Given the description of an element on the screen output the (x, y) to click on. 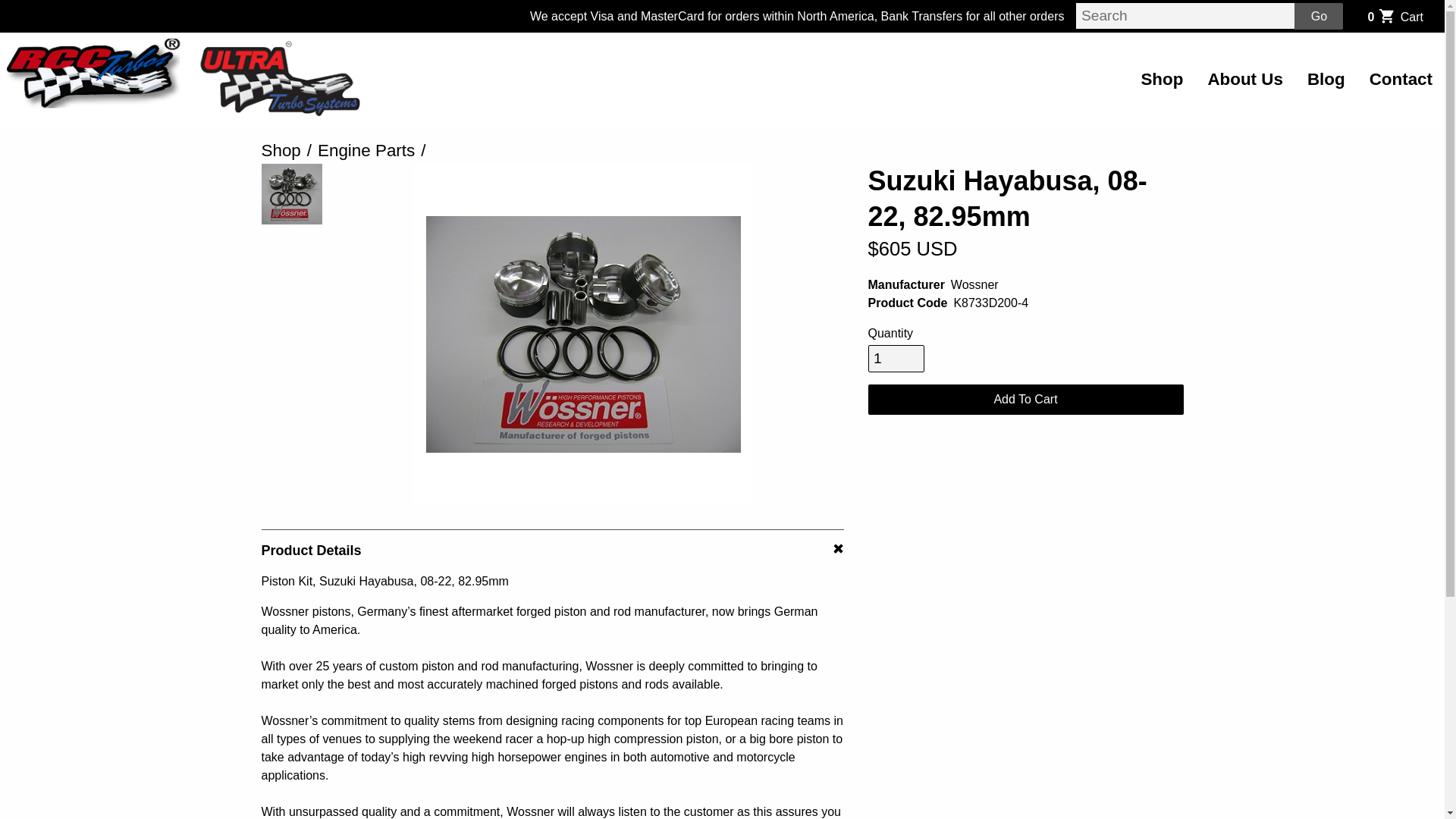
Shop (1161, 79)
Shop (279, 149)
Go (1318, 16)
Engine Parts (365, 149)
1 (895, 358)
About Us (1245, 79)
Add To Cart (1024, 399)
Blog (1395, 16)
